Given the description of an element on the screen output the (x, y) to click on. 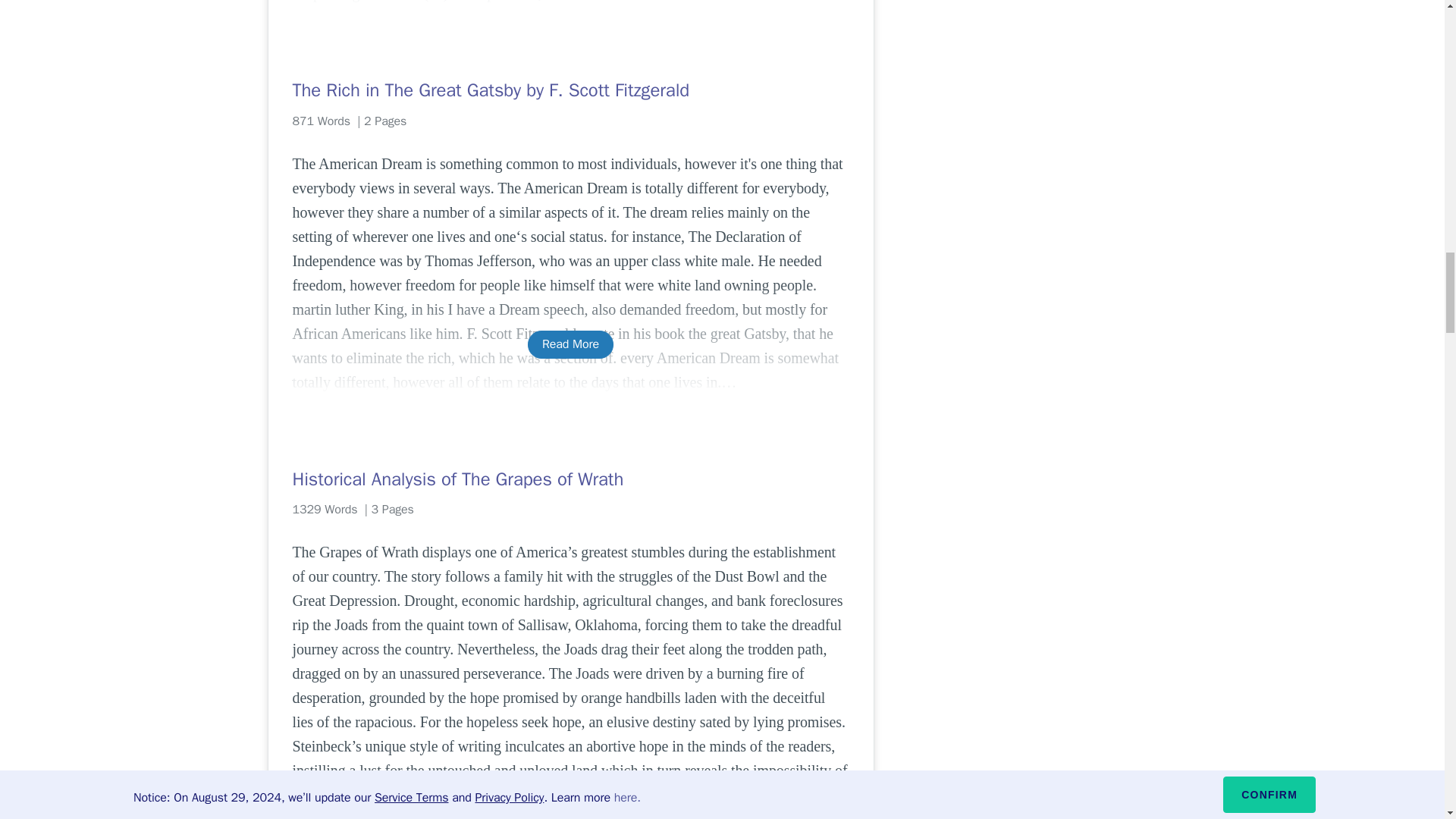
Read More (569, 817)
Read More (569, 344)
The Rich in The Great Gatsby by F. Scott Fitzgerald (570, 89)
Historical Analysis of The Grapes of Wrath (570, 478)
